Given the description of an element on the screen output the (x, y) to click on. 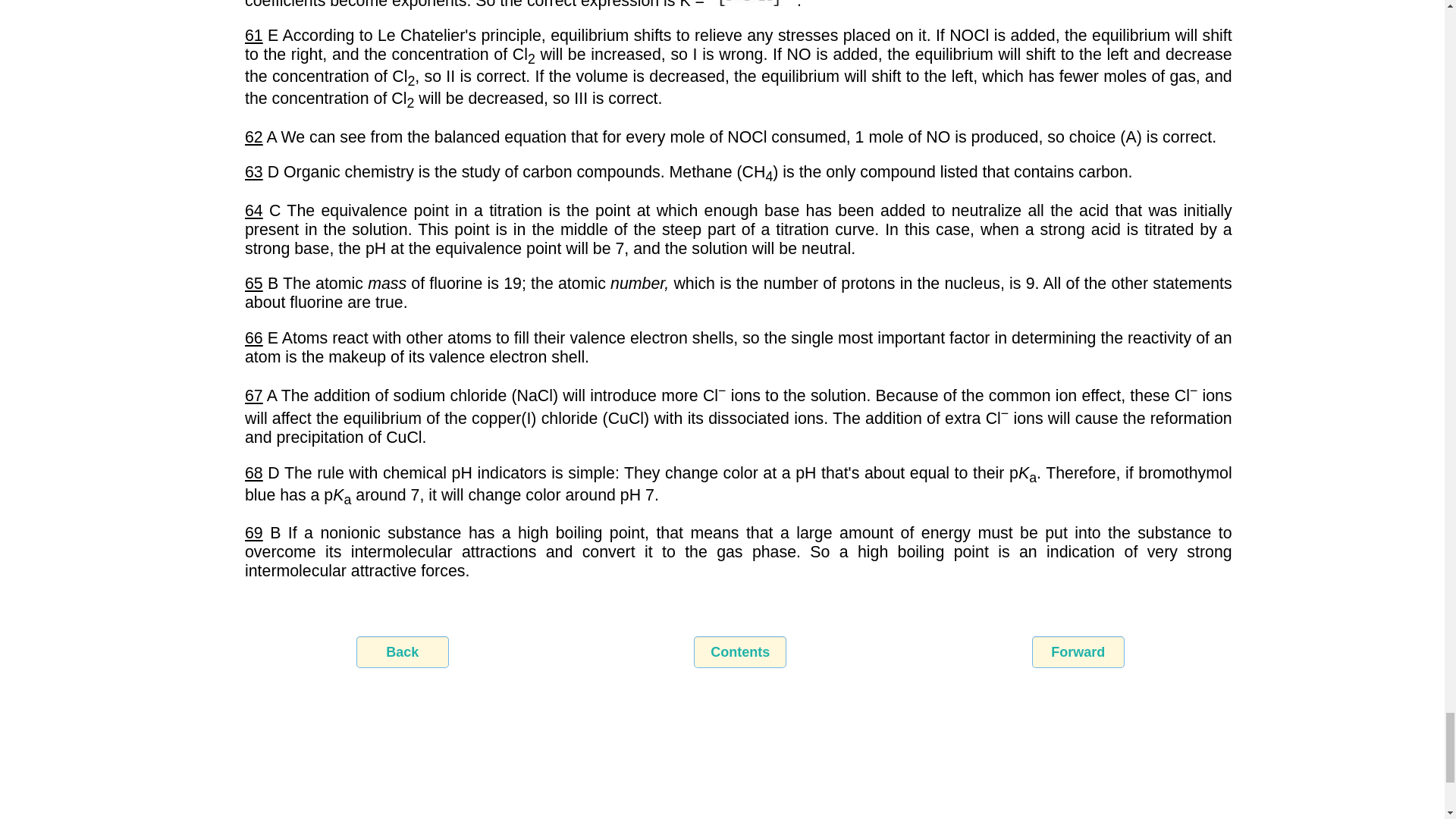
Contents (740, 652)
Back (402, 652)
Forward (1078, 652)
